Given the description of an element on the screen output the (x, y) to click on. 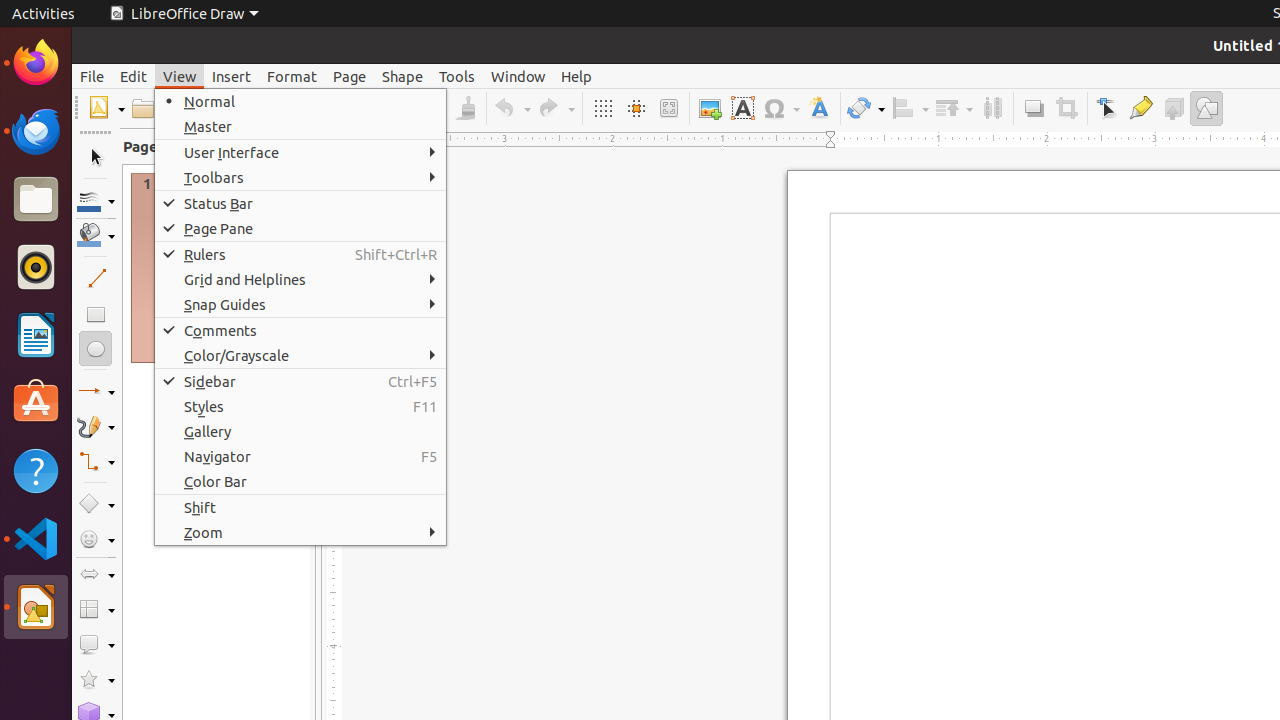
Distribution Element type: push-button (992, 108)
Shadow Element type: toggle-button (1033, 108)
Text Box Element type: push-button (742, 108)
Thunderbird Mail Element type: push-button (36, 131)
